Given the description of an element on the screen output the (x, y) to click on. 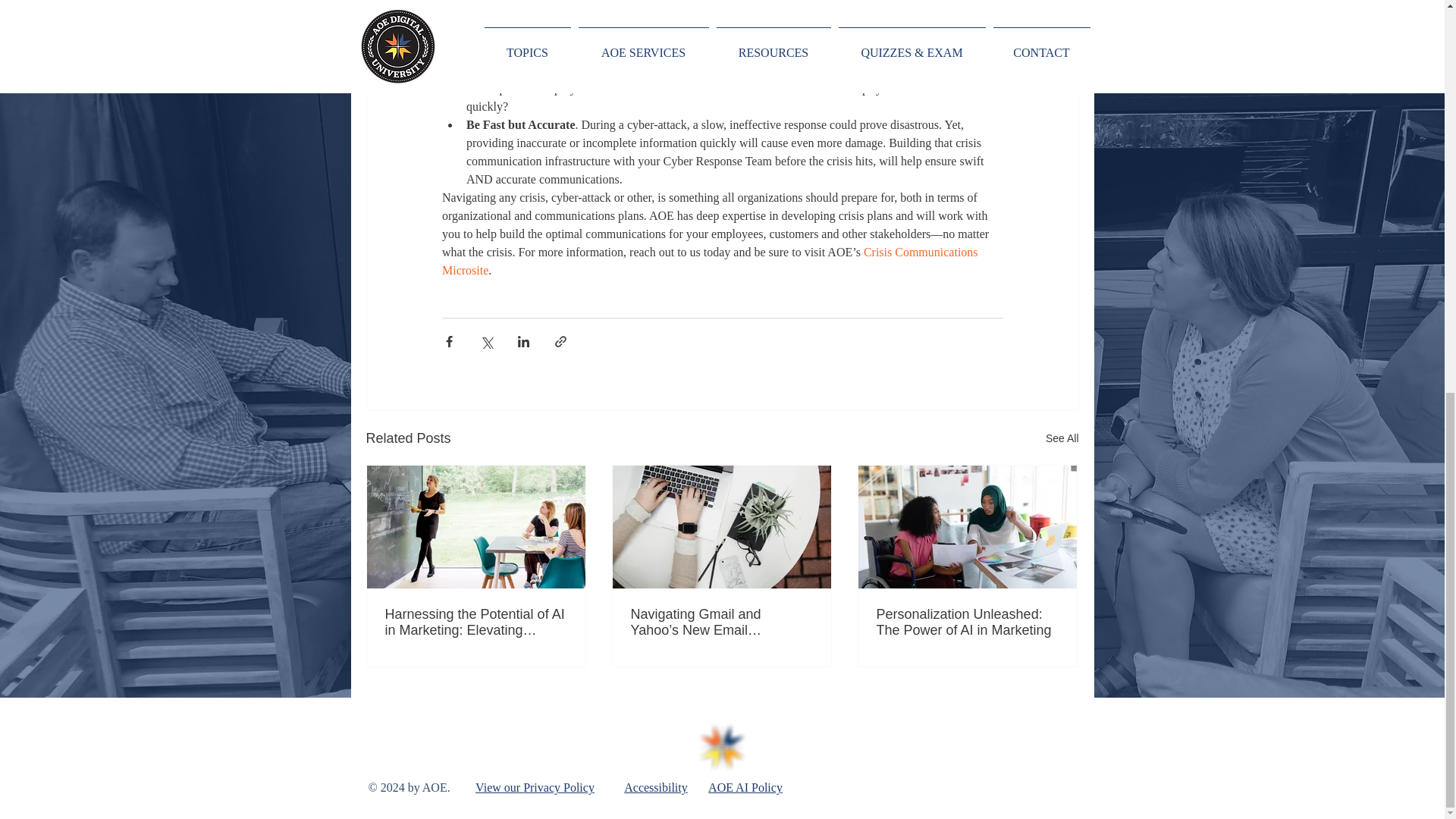
Privacy Policy (558, 787)
Accessibility (655, 787)
Crisis Communications Microsite (710, 260)
Personalization Unleashed: The Power of AI in Marketing (967, 622)
AOE AI Policy (745, 787)
See All (1061, 438)
